Given the description of an element on the screen output the (x, y) to click on. 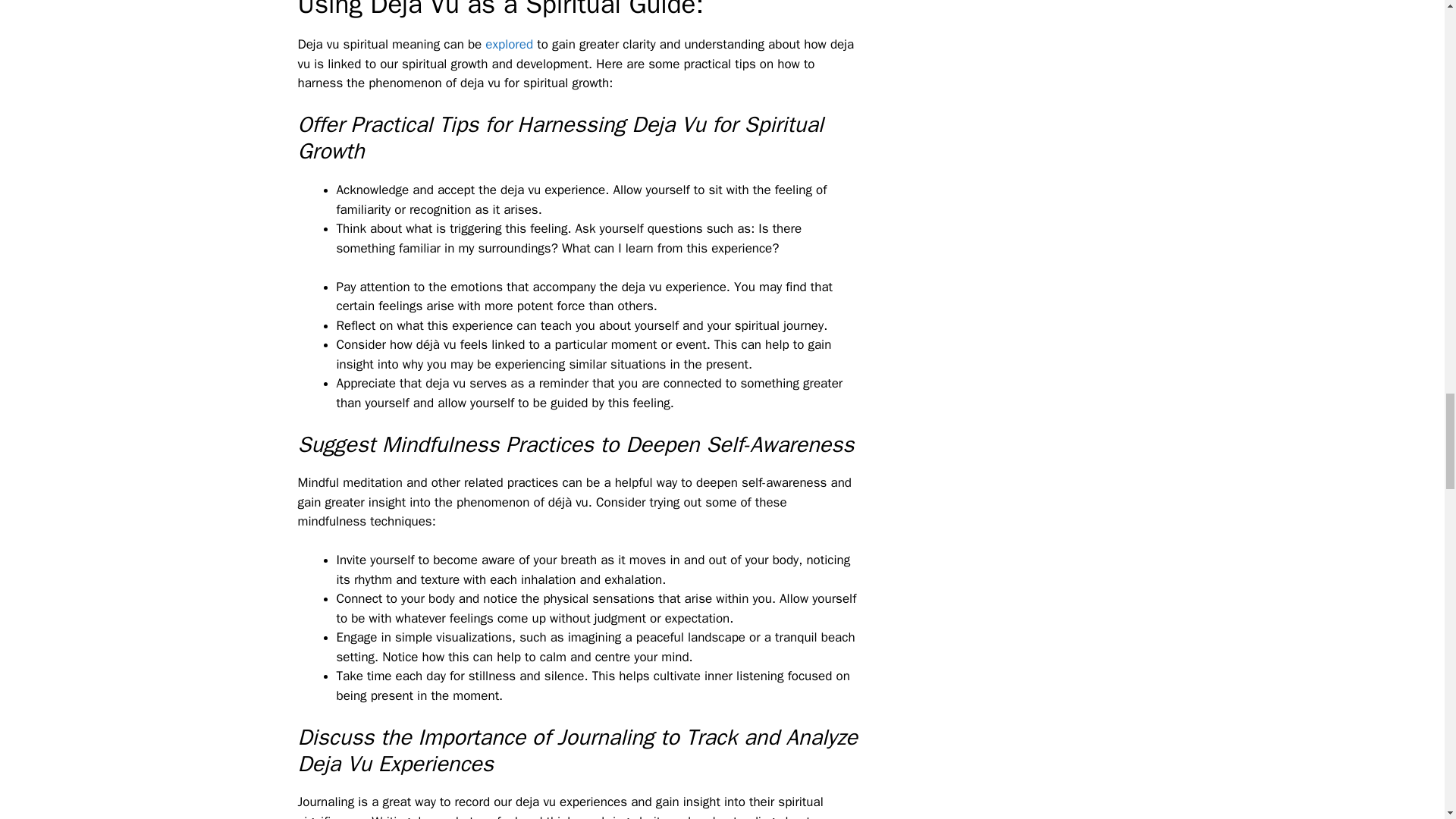
explored (508, 44)
